Given the description of an element on the screen output the (x, y) to click on. 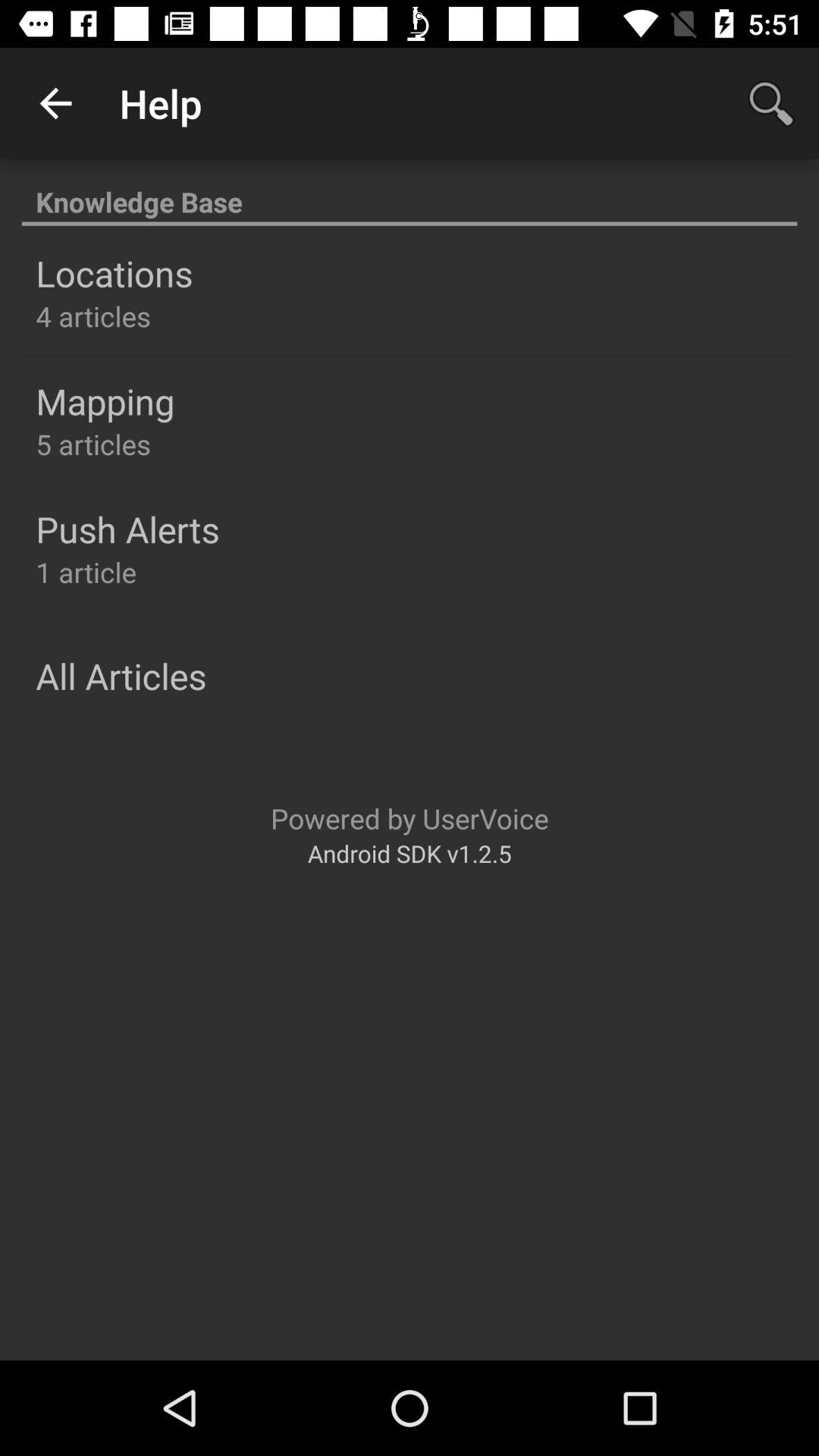
tap icon above the 4 articles (113, 273)
